Given the description of an element on the screen output the (x, y) to click on. 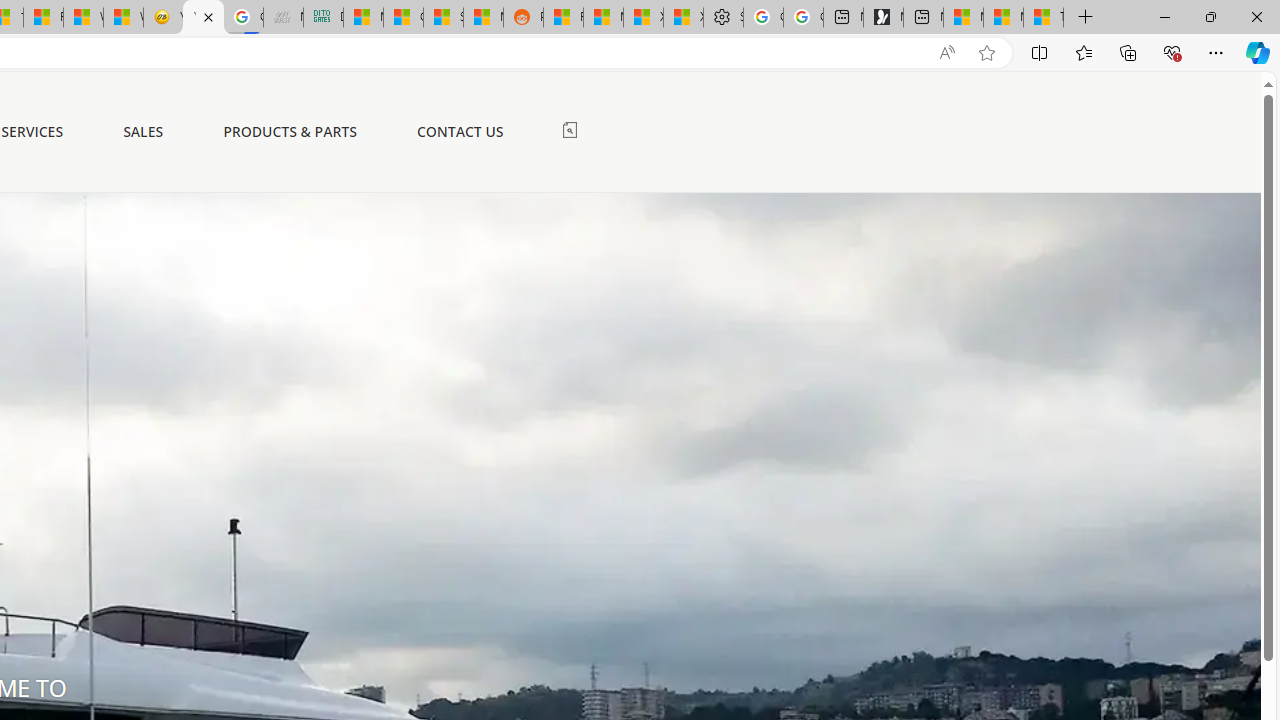
Fitness - MSN (43, 17)
CONTACT US (459, 132)
SALES (143, 131)
